Given the description of an element on the screen output the (x, y) to click on. 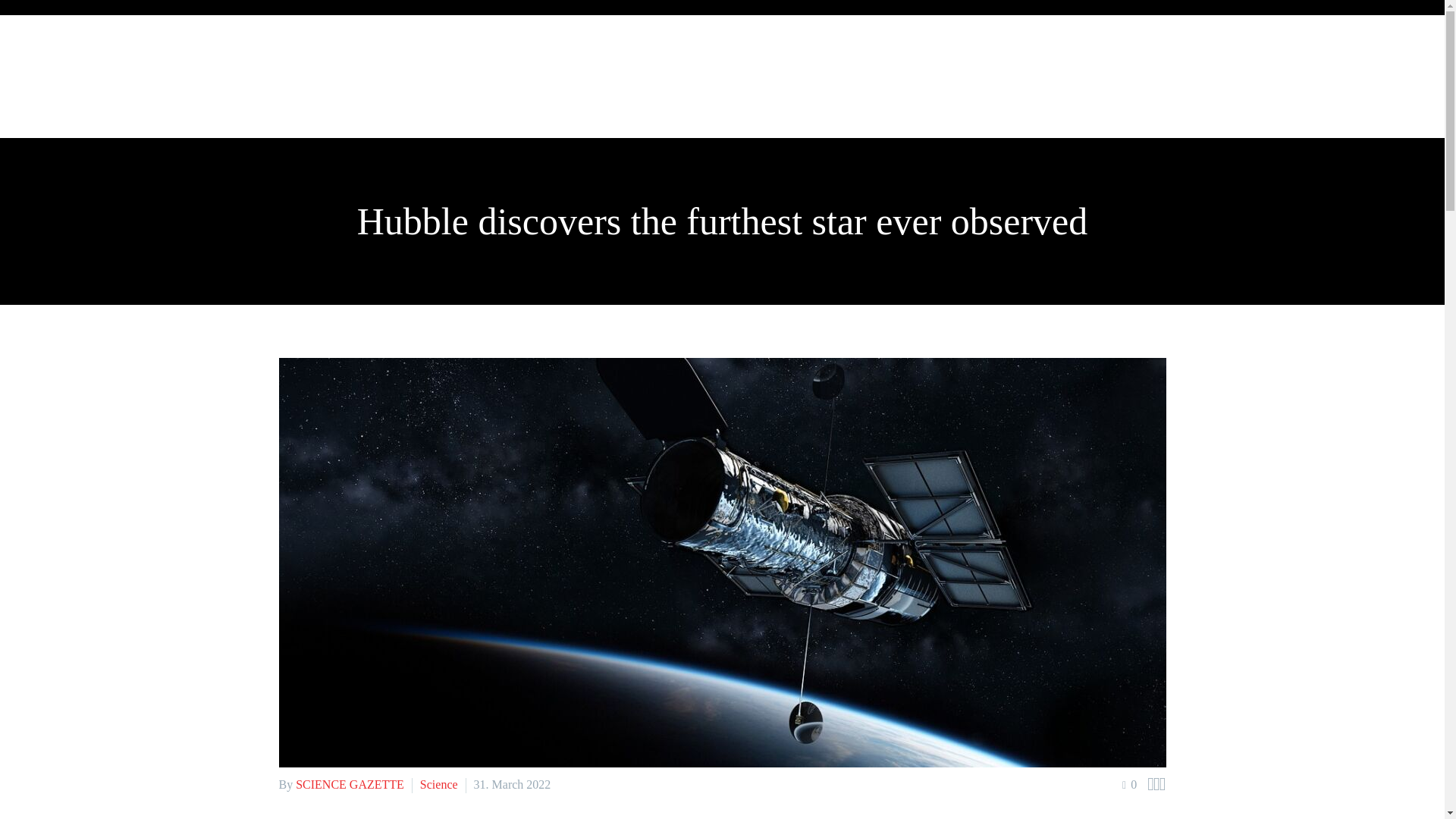
s (1203, 157)
View all posts in Science (439, 784)
0 (1129, 784)
Science (439, 784)
SCIENCE GAZETTE (349, 784)
